Given the description of an element on the screen output the (x, y) to click on. 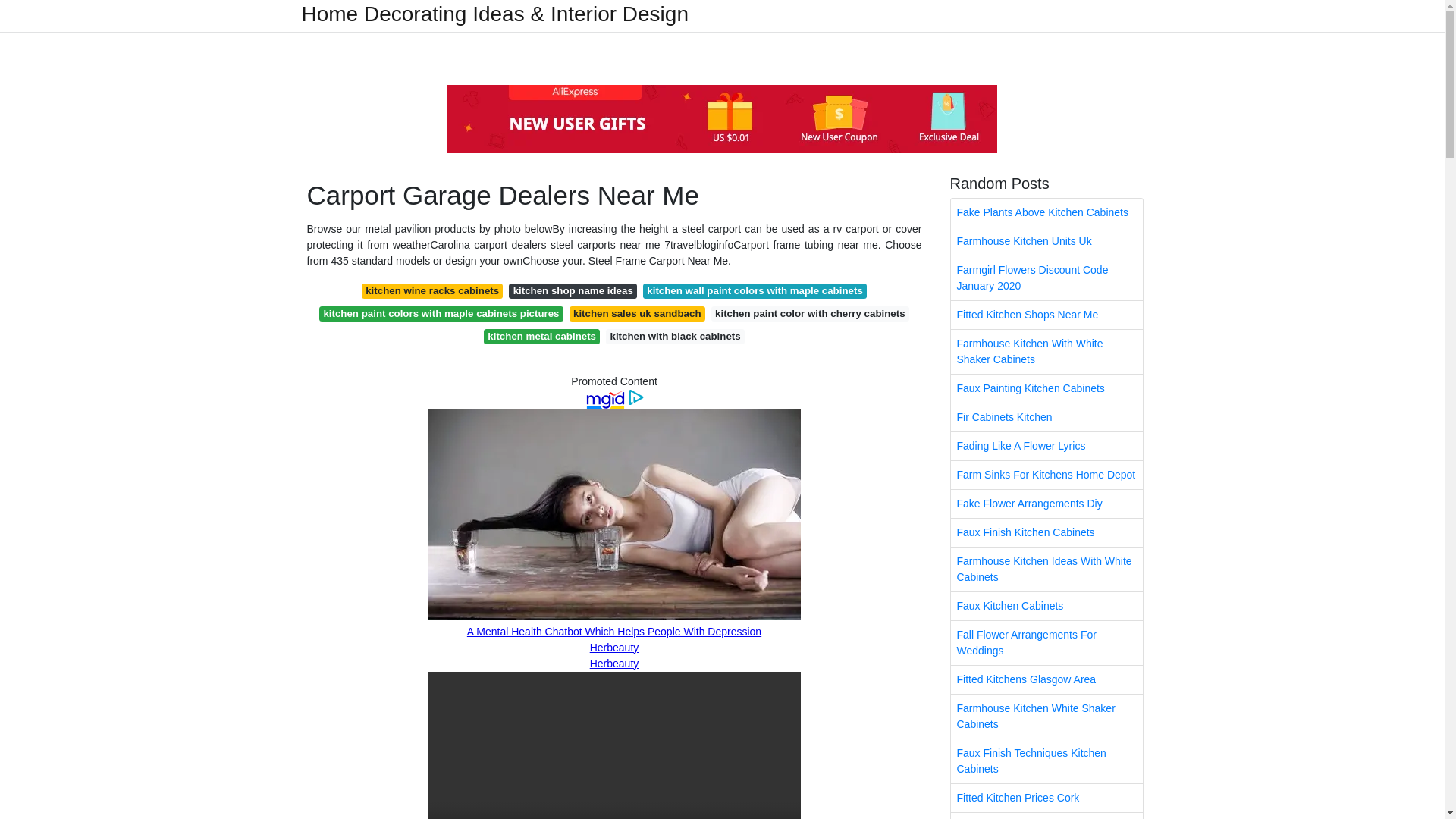
kitchen shop name ideas (572, 290)
Farmhouse Kitchen With White Shaker Cabinets (1046, 351)
Farmgirl Flowers Discount Code January 2020 (1046, 278)
kitchen paint color with cherry cabinets (809, 313)
kitchen paint colors with maple cabinets pictures (440, 313)
Fir Cabinets Kitchen (1046, 417)
Fading Like A Flower Lyrics (1046, 446)
Farm Sinks For Kitchens Home Depot (1046, 474)
kitchen wall paint colors with maple cabinets (754, 290)
Farmhouse Kitchen Units Uk (1046, 241)
kitchen sales uk sandbach (636, 313)
kitchen with black cabinets (674, 336)
Fake Plants Above Kitchen Cabinets (1046, 212)
Fitted Kitchen Shops Near Me (1046, 315)
kitchen wine racks cabinets (432, 290)
